Given the description of an element on the screen output the (x, y) to click on. 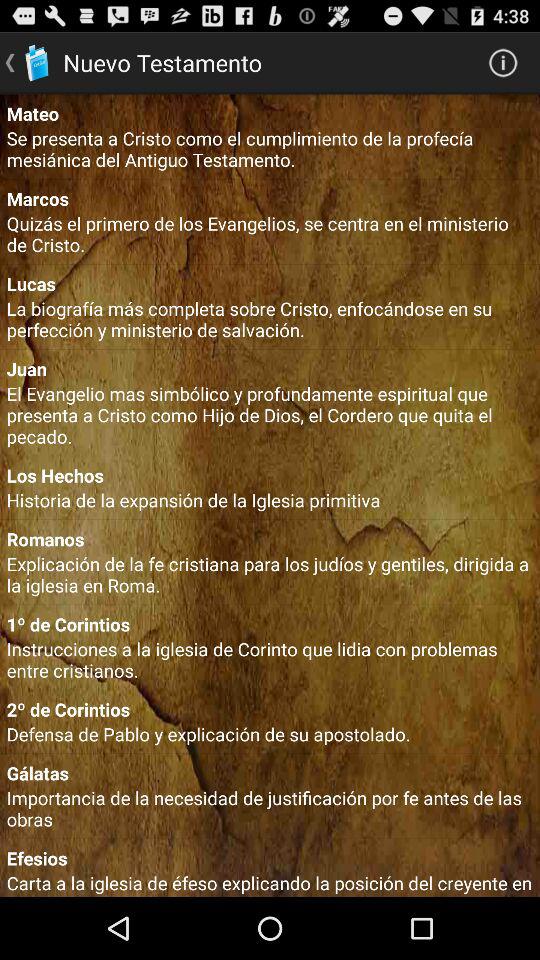
turn on the marcos item (269, 198)
